Given the description of an element on the screen output the (x, y) to click on. 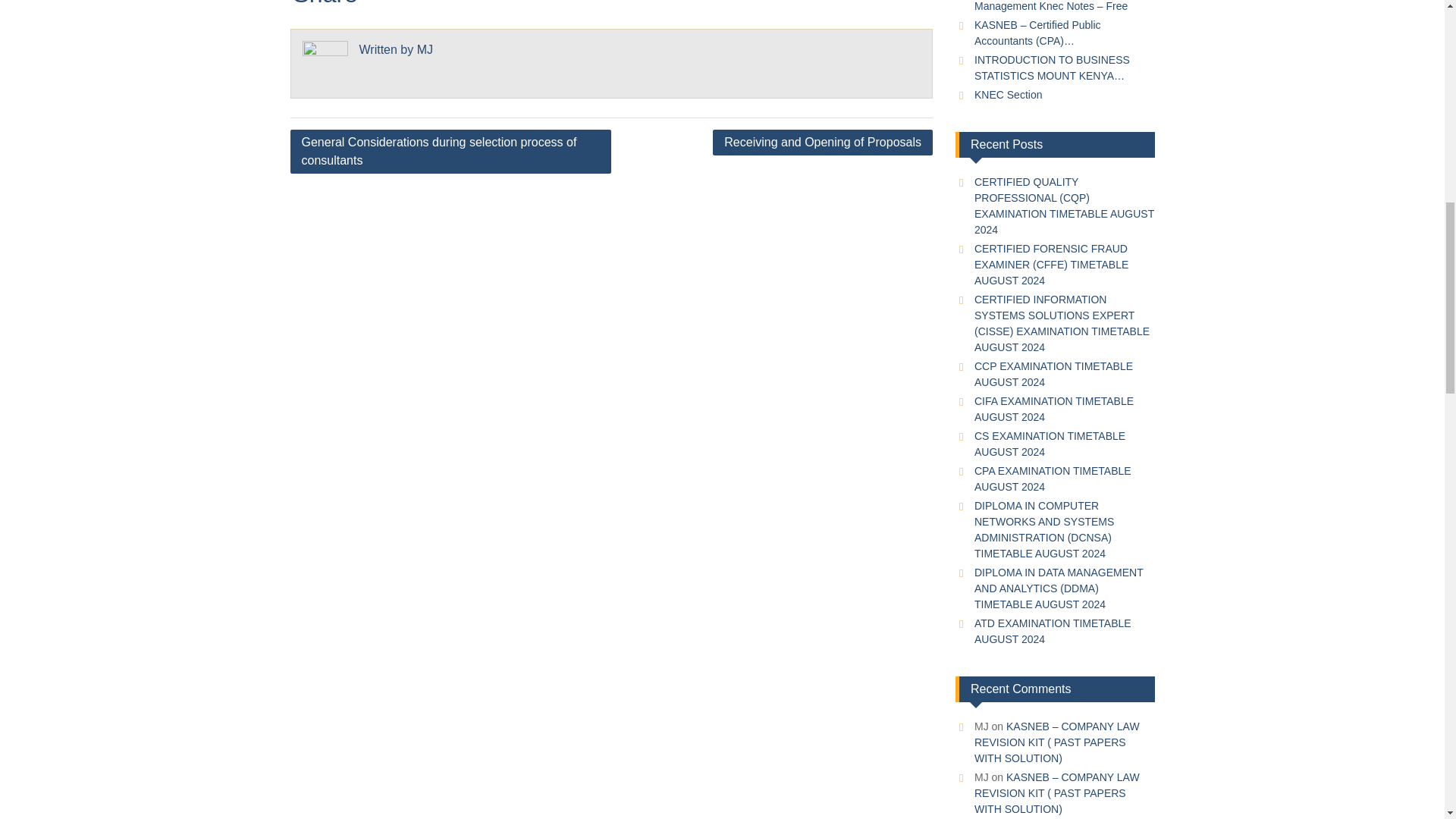
MJ (424, 49)
Receiving and Opening of Proposals (823, 142)
Posts by MJ (424, 49)
